Given the description of an element on the screen output the (x, y) to click on. 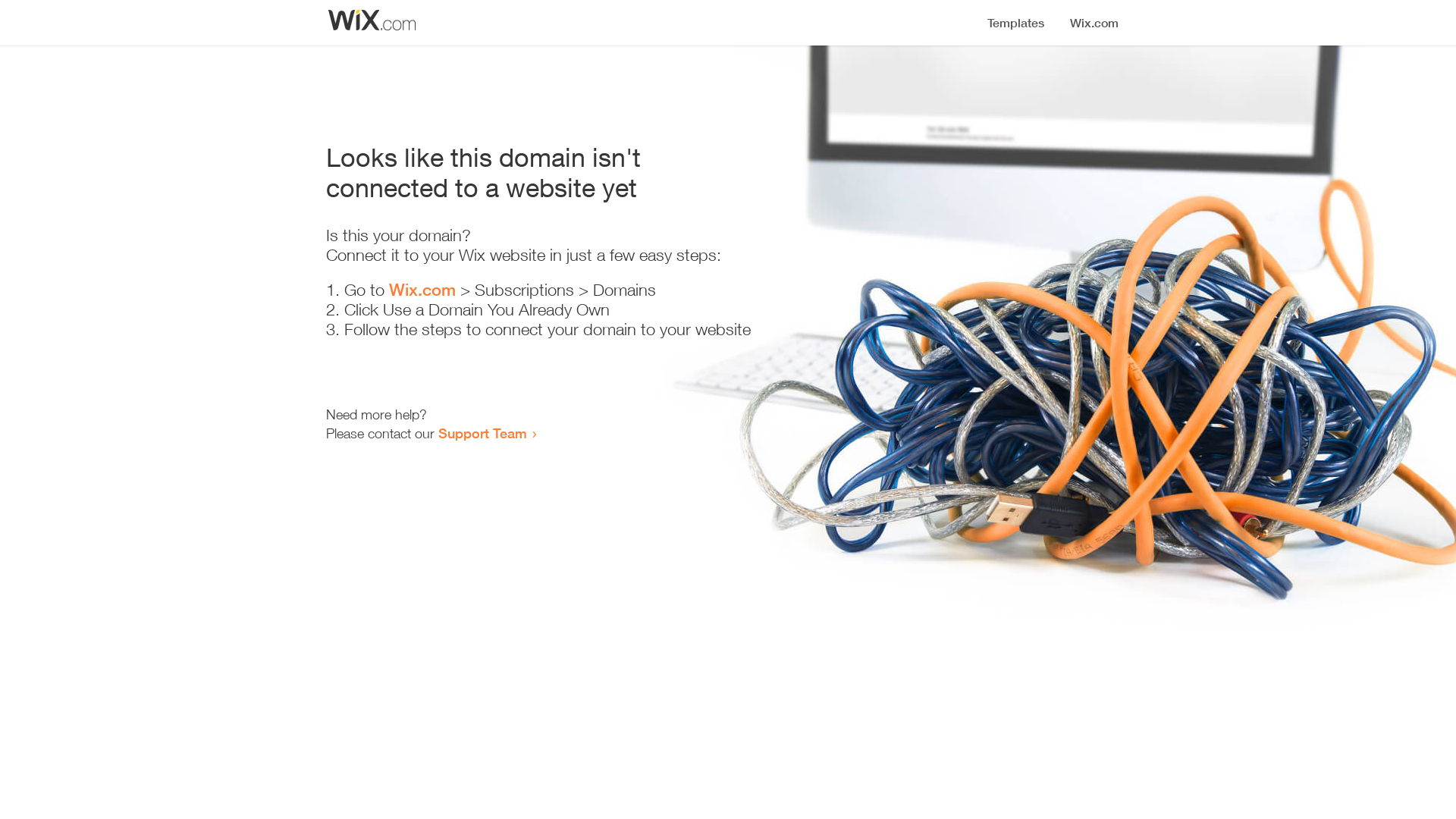
Support Team Element type: text (482, 432)
Wix.com Element type: text (422, 289)
